Given the description of an element on the screen output the (x, y) to click on. 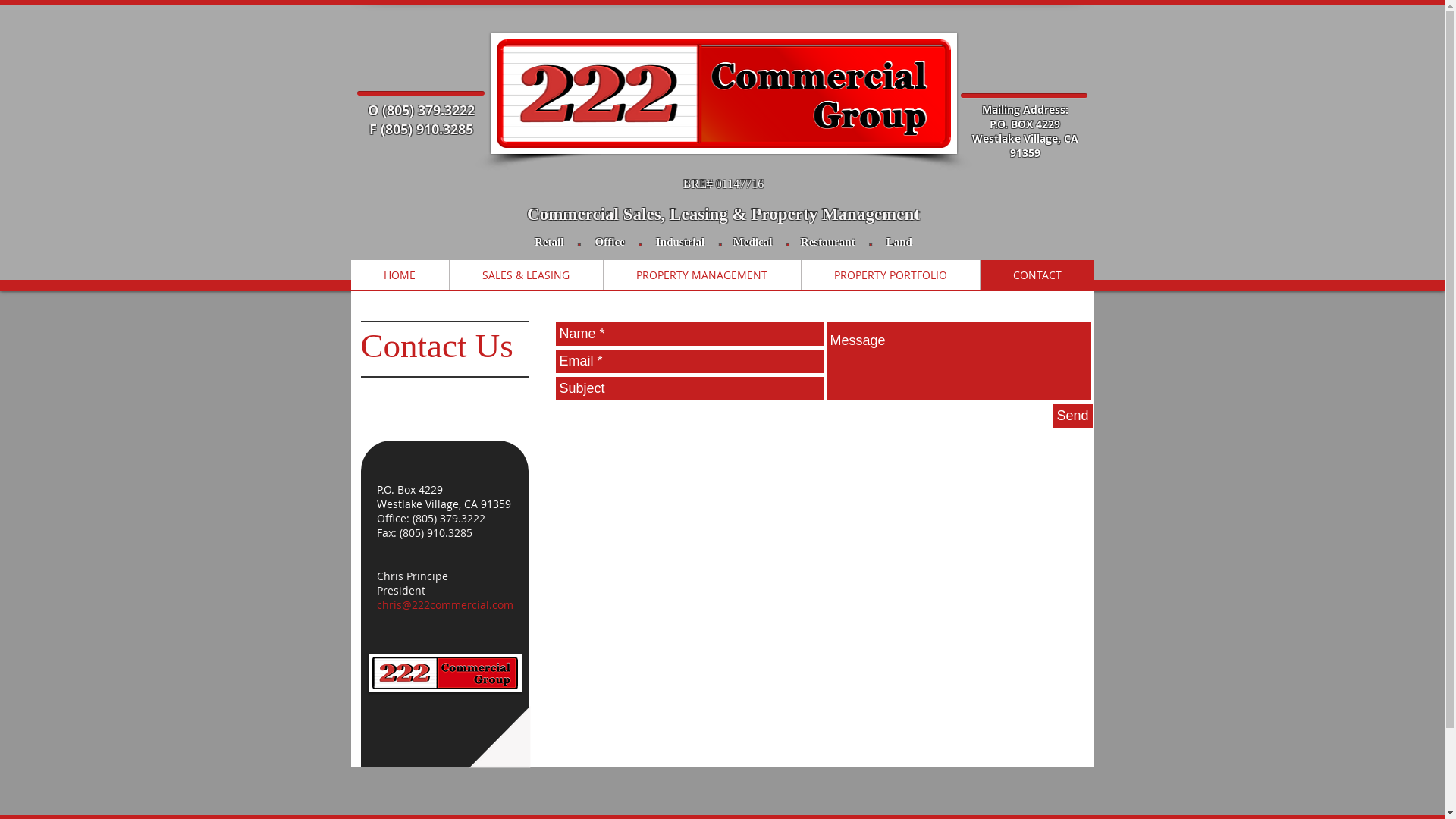
222 logo red border.png Element type: hover (722, 93)
SALES & LEASING Element type: text (525, 275)
CONTACT Element type: text (1036, 275)
chris@222commercial.com Element type: text (444, 604)
Google Maps Element type: hover (822, 593)
PROPERTY PORTFOLIO Element type: text (889, 275)
HOME Element type: text (399, 275)
Send Element type: text (1072, 415)
PROPERTY MANAGEMENT Element type: text (701, 275)
